Given the description of an element on the screen output the (x, y) to click on. 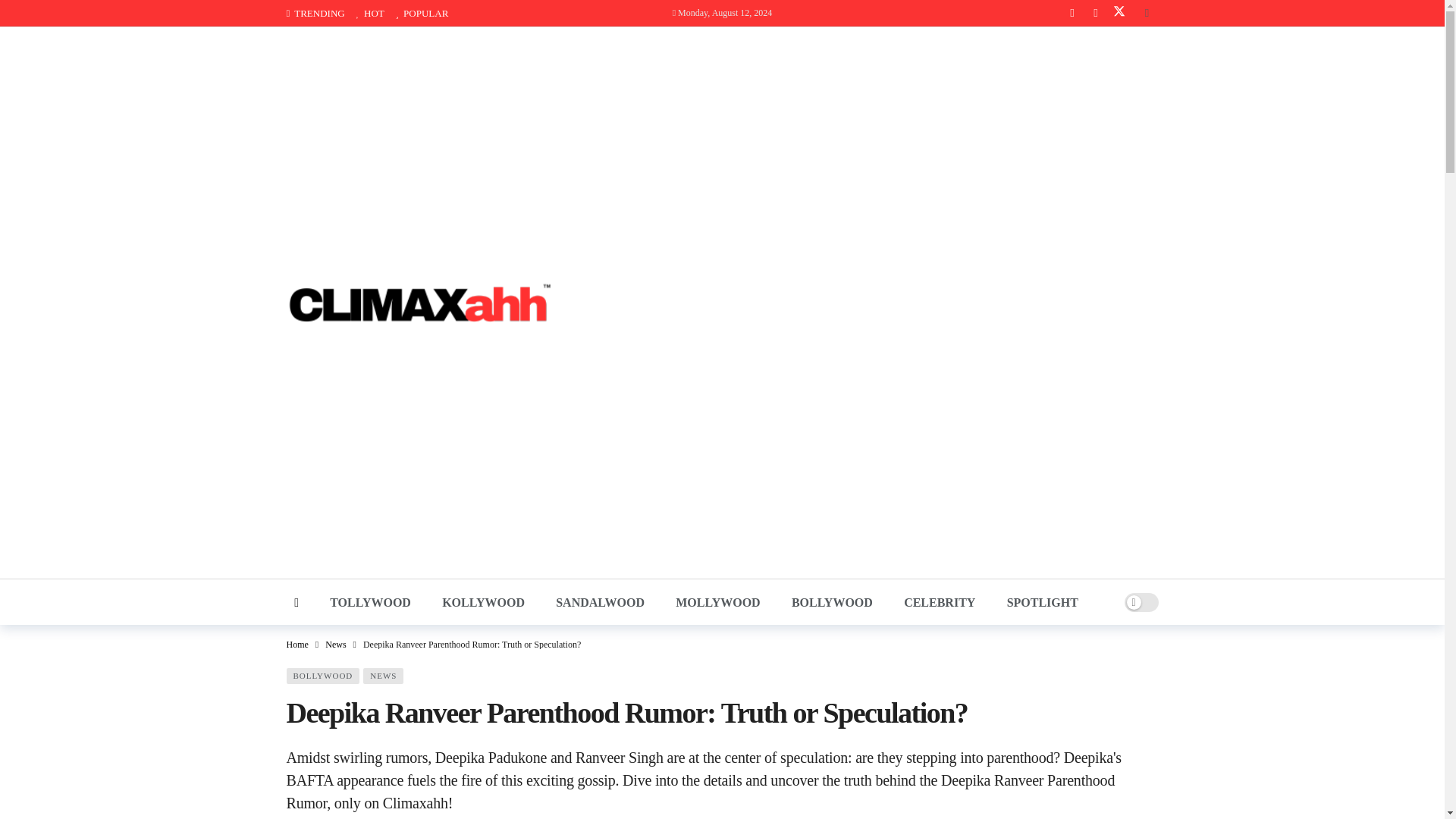
BOLLYWOOD (831, 601)
SPOTLIGHT (1042, 601)
POPULAR (422, 13)
TRENDING (321, 13)
HOT (376, 13)
Home (297, 644)
SANDALWOOD (600, 601)
TOLLYWOOD (370, 601)
KOLLYWOOD (482, 601)
MOLLYWOOD (718, 601)
